Given the description of an element on the screen output the (x, y) to click on. 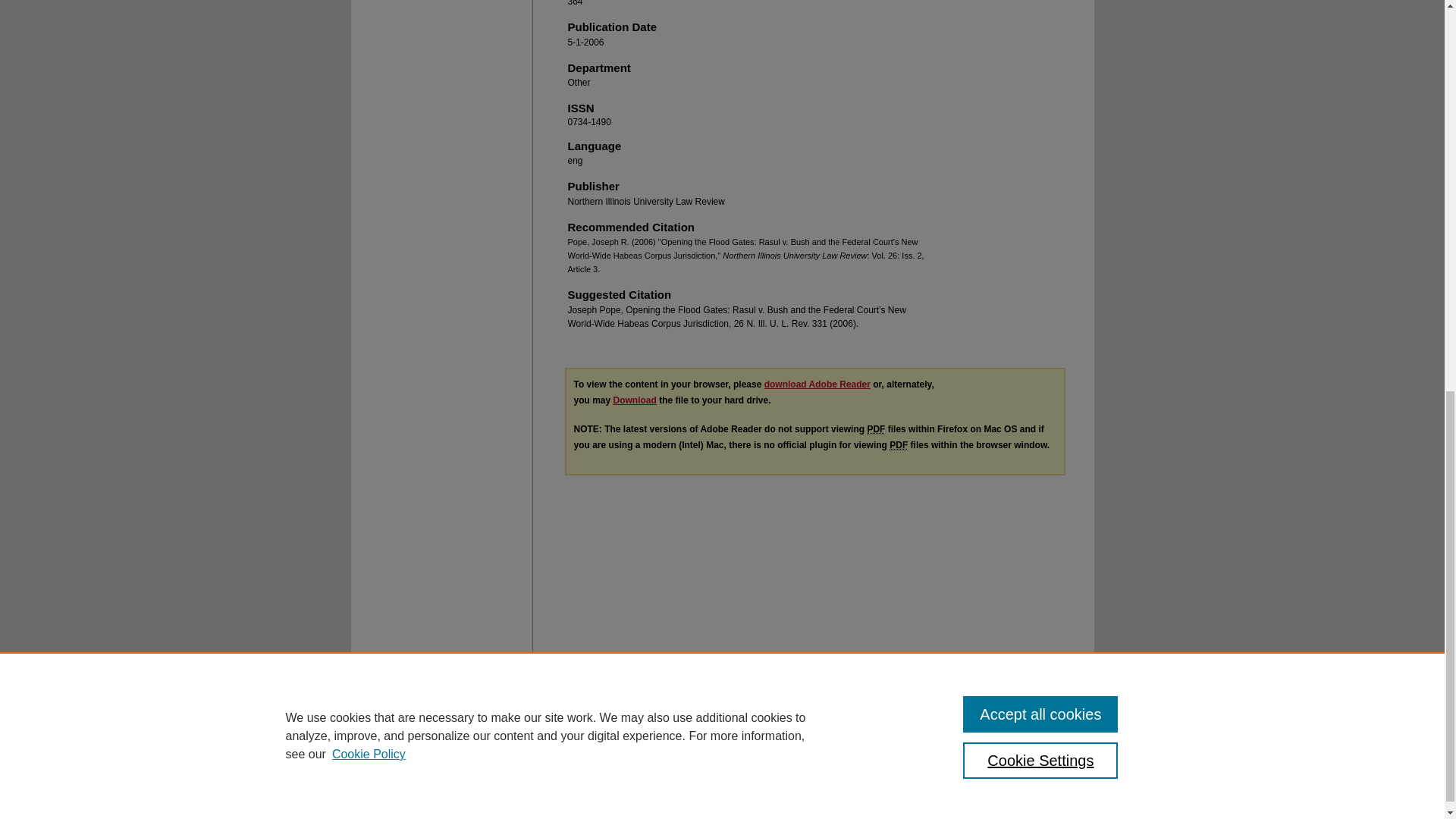
Portable Document Format (898, 445)
Adobe - Adobe Reader download (817, 384)
Download (634, 399)
Portable Document Format (875, 429)
download Adobe Reader (817, 384)
